Given the description of an element on the screen output the (x, y) to click on. 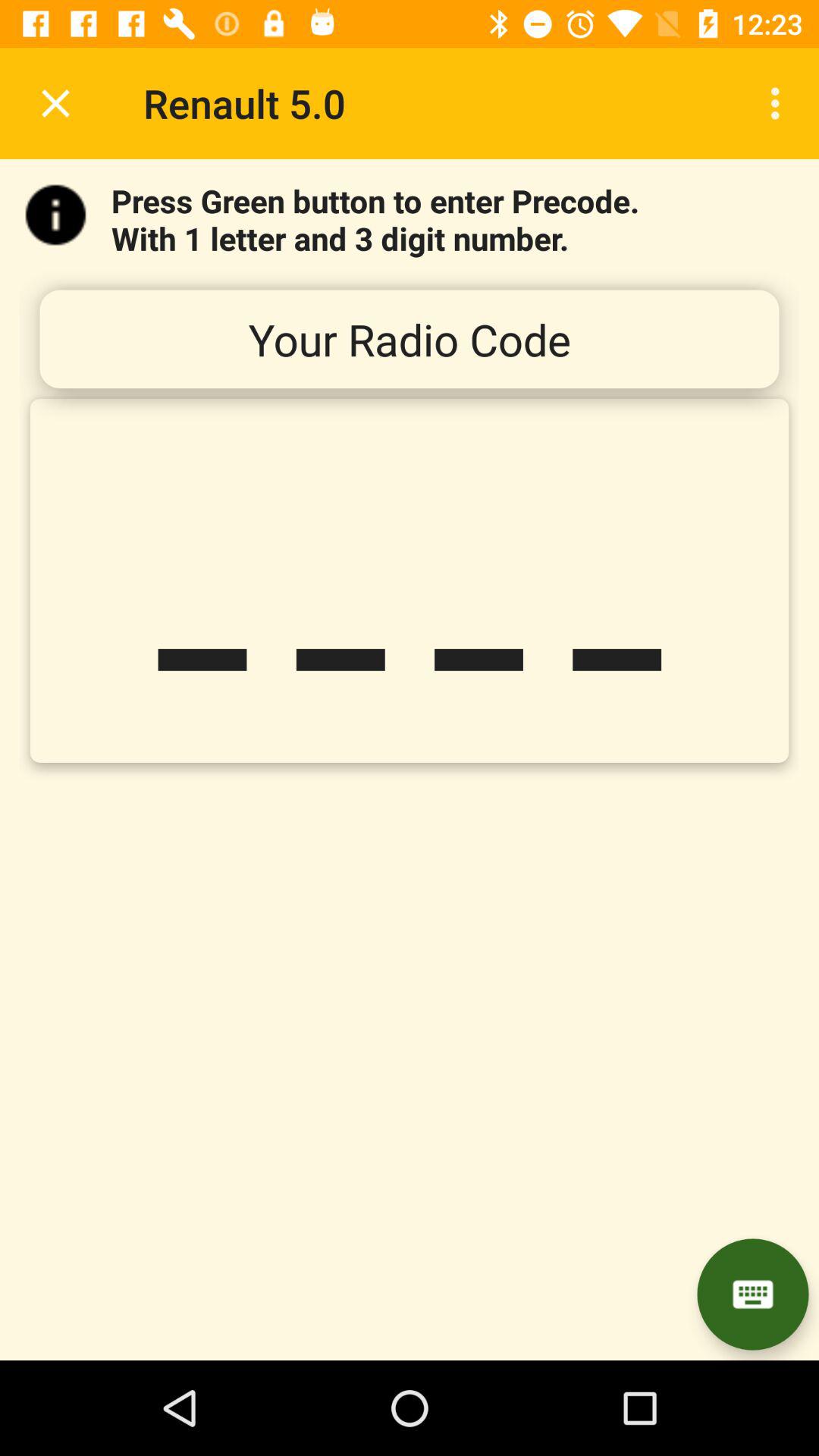
turn on icon next to renault 5.0 item (779, 103)
